Given the description of an element on the screen output the (x, y) to click on. 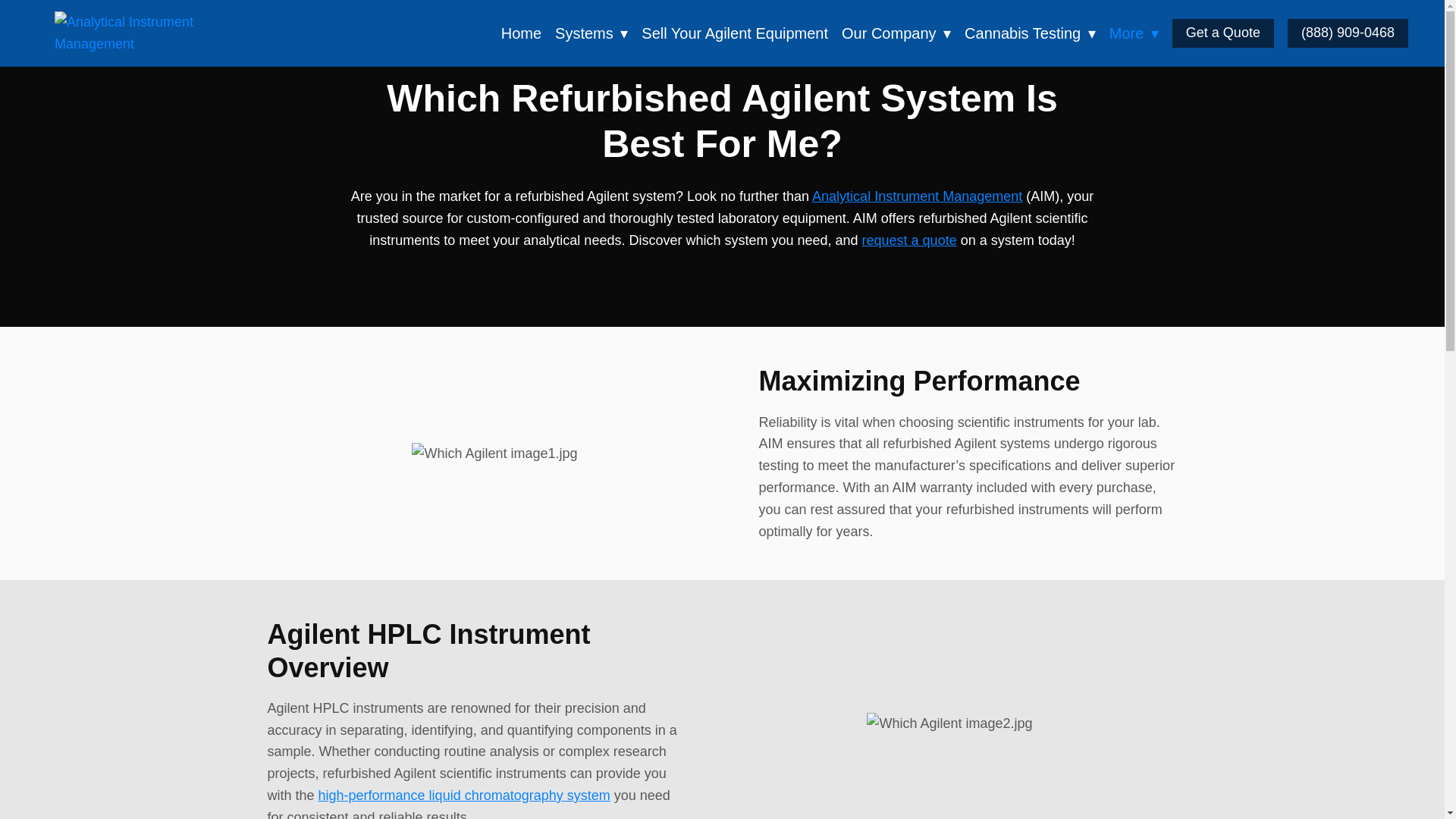
request a quote (908, 240)
Sell Your Agilent Equipment (735, 33)
high-performance liquid chromatography system (464, 795)
Analytical Instrument Management (145, 33)
Analytical Instrument Management (917, 196)
Home (520, 33)
Get a Quote (1223, 32)
